Given the description of an element on the screen output the (x, y) to click on. 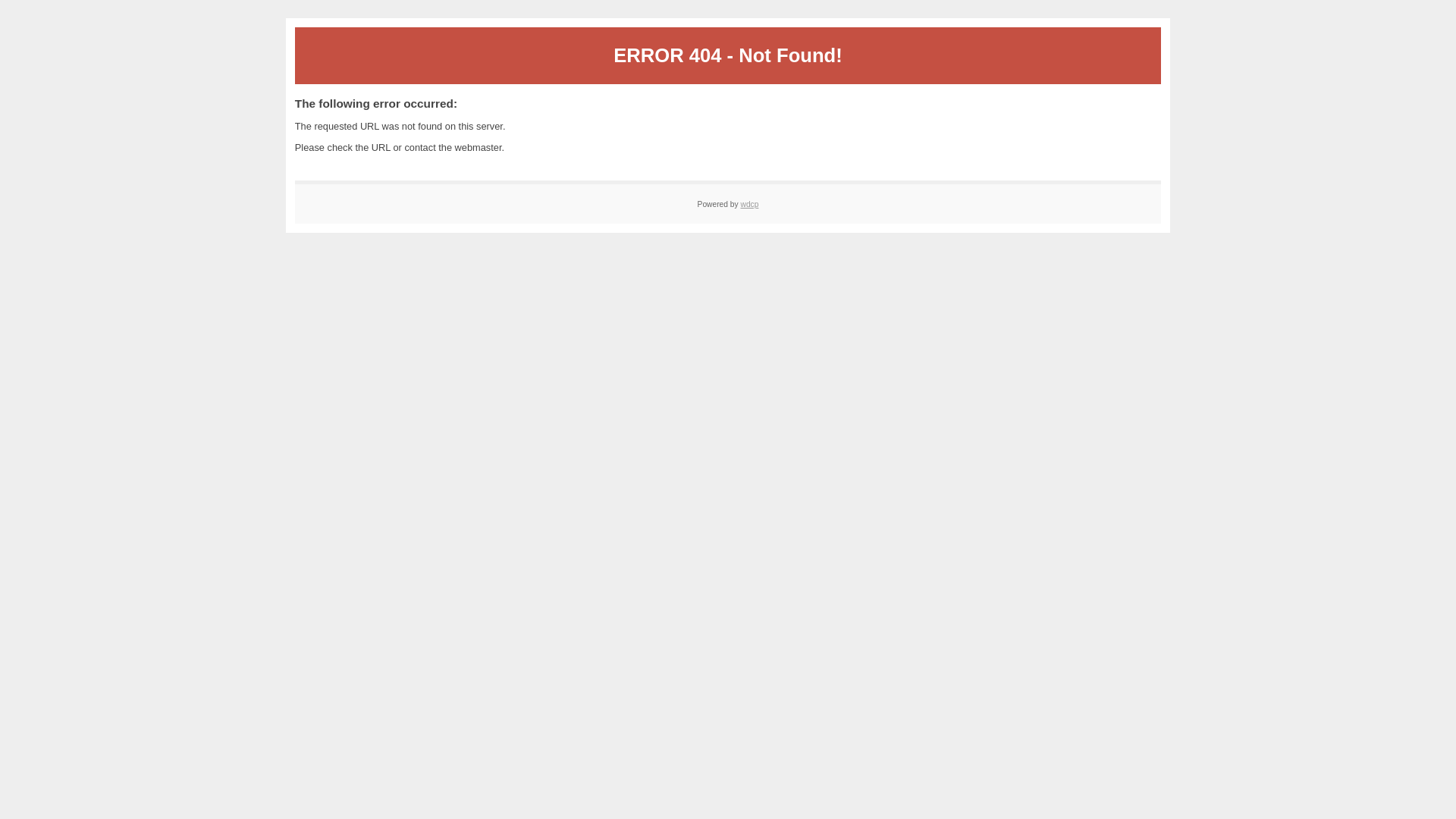
wdcp Element type: text (749, 204)
